Given the description of an element on the screen output the (x, y) to click on. 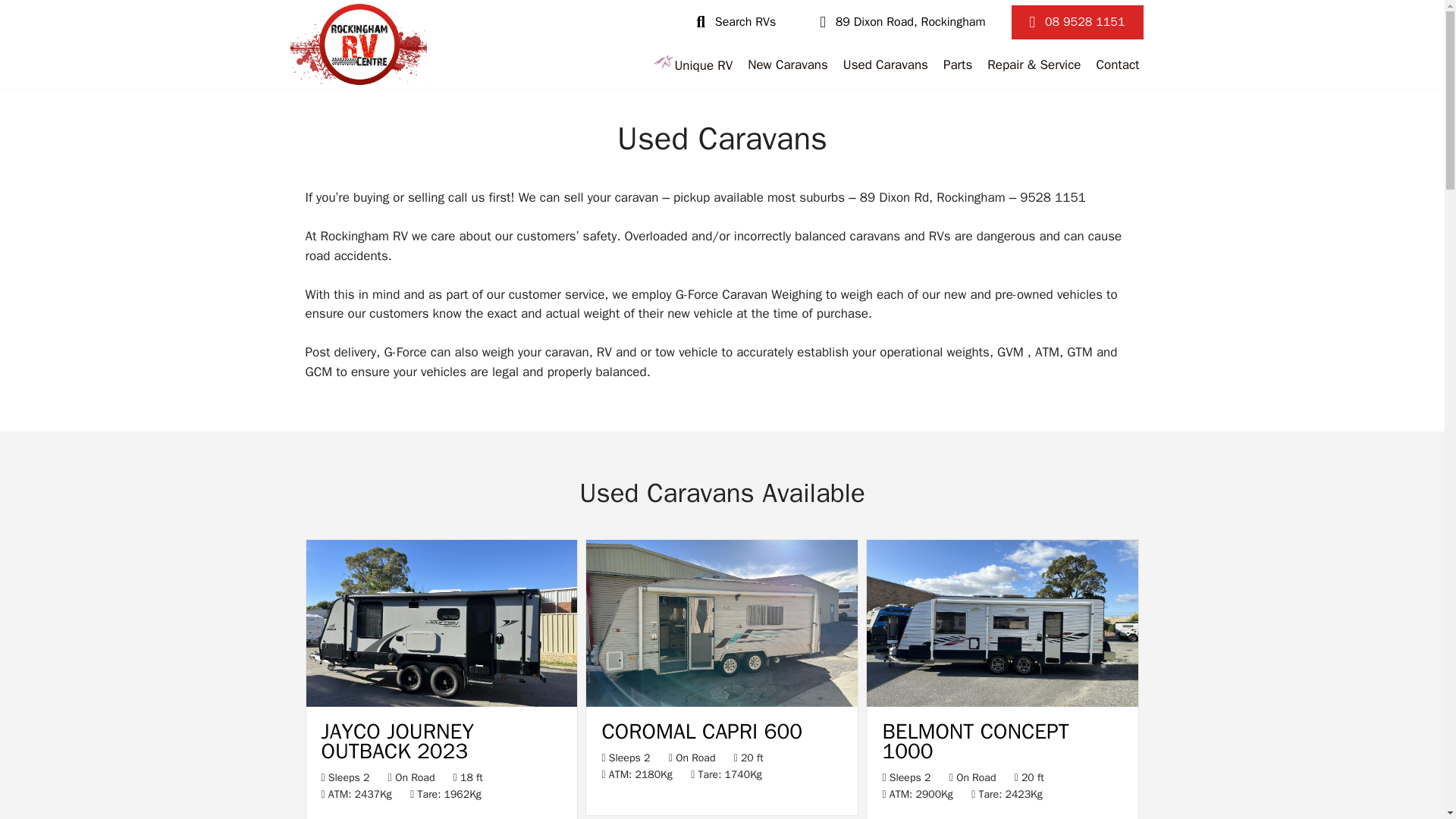
COROMAL CAPRI 600 (701, 731)
Search RVs (735, 21)
BELMONT CONCEPT 1000 (975, 741)
89 Dixon Road, Rockingham (902, 21)
Used Caravans (885, 64)
COROMAL CAPRI 600 (701, 731)
BELMONT CONCEPT 1000 (1002, 703)
08 9528 1151 (1076, 21)
JAYCO JOURNEY OUTBACK 2023 (397, 741)
Unique RV (693, 64)
New Caravans (787, 64)
Contact (1117, 64)
Rockingham-RV-Centre-Logo-Large-cropped (357, 44)
JAYCO JOURNEY OUTBACK 2023 (397, 741)
JAYCO JOURNEY OUTBACK 2023 (441, 703)
